Given the description of an element on the screen output the (x, y) to click on. 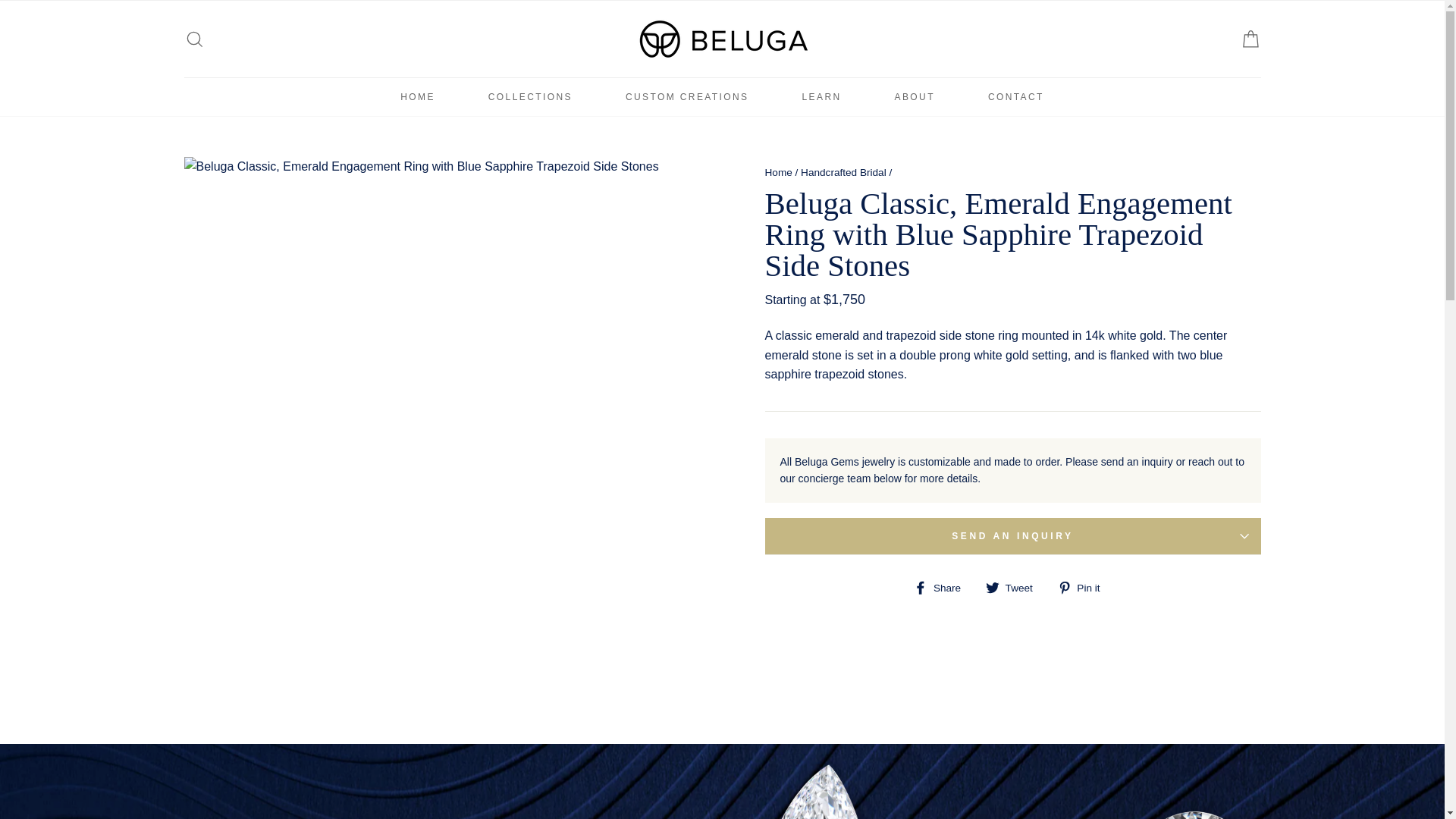
SEND AN INQUIRY (943, 587)
Tweet on Twitter (1012, 535)
COLLECTIONS (1014, 587)
Pin on Pinterest (530, 96)
LEARN (1085, 587)
CUSTOM CREATIONS (1014, 587)
Back to the frontpage (821, 96)
Home (687, 96)
HOME (778, 172)
Handcrafted Bridal (778, 172)
ABOUT (417, 96)
CONTACT (843, 172)
Skip to content (914, 96)
